Given the description of an element on the screen output the (x, y) to click on. 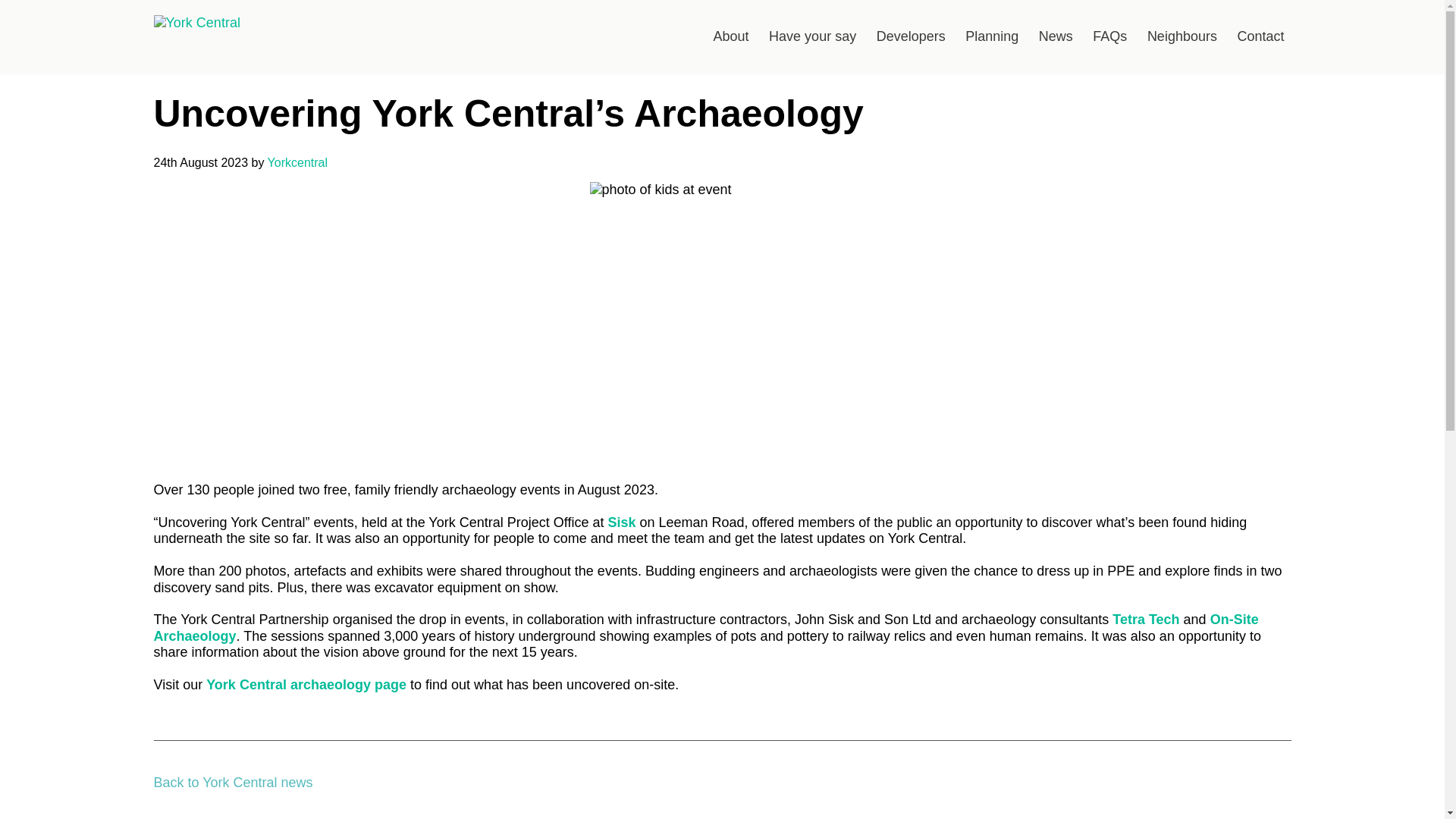
On-Site Archaeology (704, 627)
Contact (1260, 36)
Planning (991, 36)
Yorkcentral (297, 162)
Have your say (812, 36)
Sisk (620, 522)
Neighbours (1182, 36)
About (731, 36)
News (1056, 36)
Tetra Tech (1145, 619)
FAQs (1109, 36)
Developers (910, 36)
Back to York Central news (232, 782)
York Central archaeology page (306, 684)
